Given the description of an element on the screen output the (x, y) to click on. 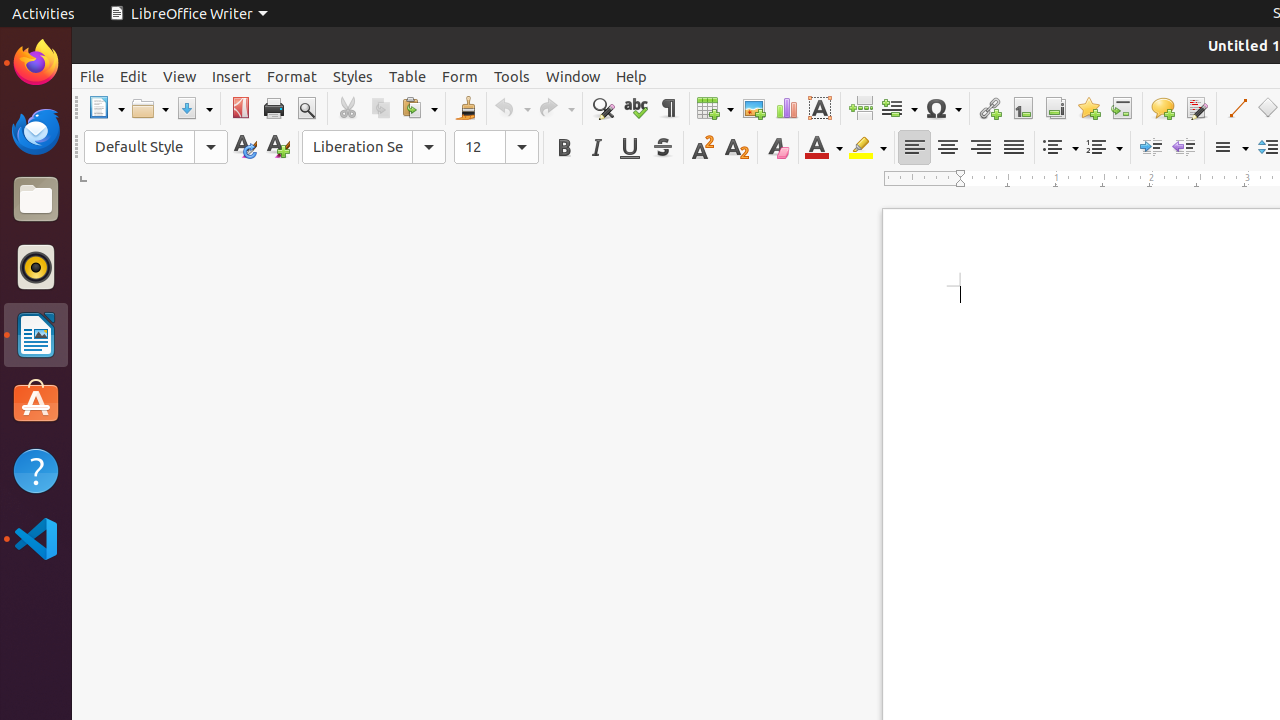
Hyperlink Element type: toggle-button (989, 108)
Image Element type: push-button (753, 108)
Justified Element type: toggle-button (1013, 147)
Table Element type: push-button (715, 108)
